Given the description of an element on the screen output the (x, y) to click on. 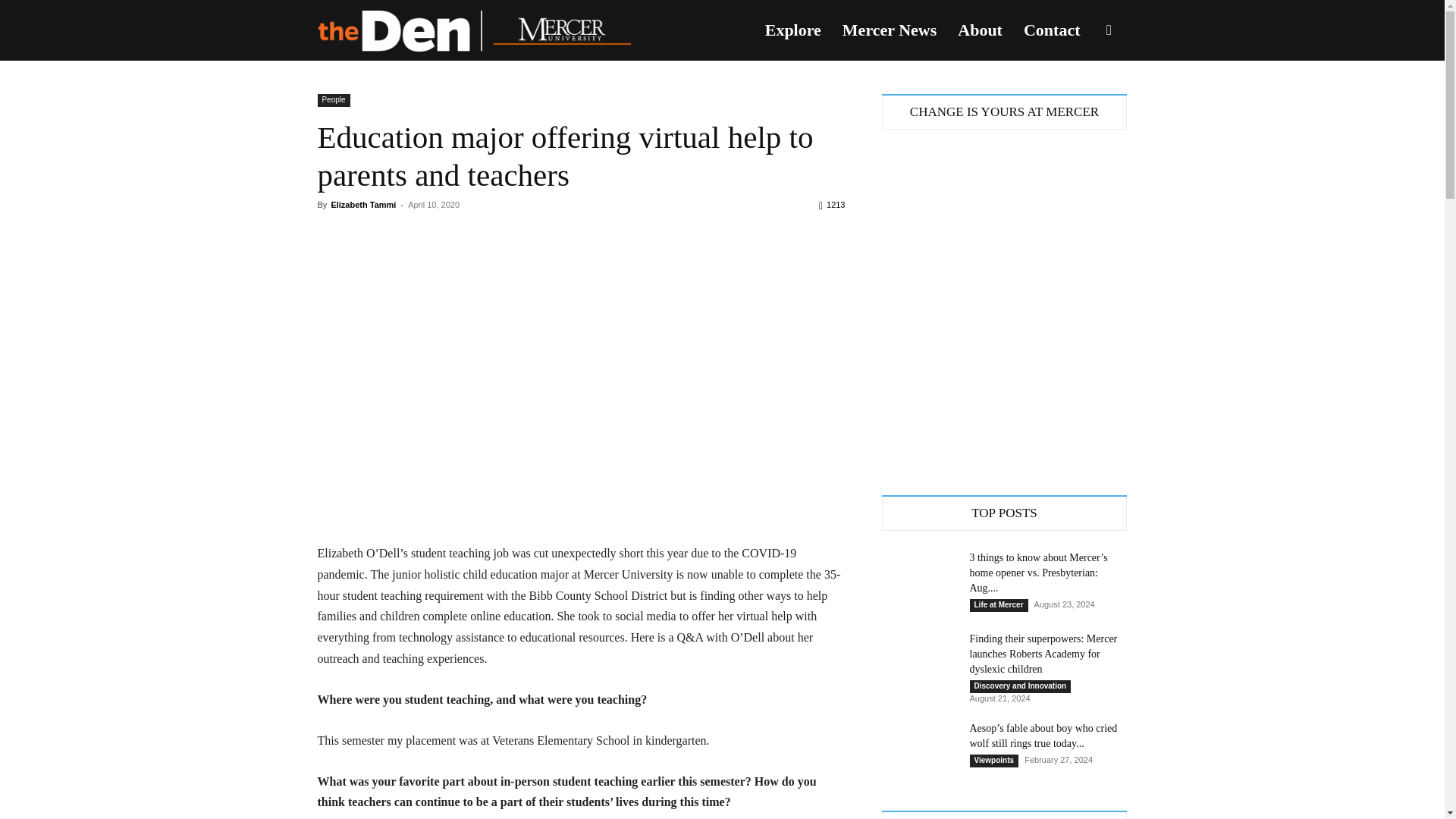
Contact (1051, 30)
Explore (792, 30)
The Den (473, 30)
Mercer News (889, 30)
Search (1085, 102)
About (980, 30)
Elizabeth Tammi (363, 204)
People (333, 100)
